Given the description of an element on the screen output the (x, y) to click on. 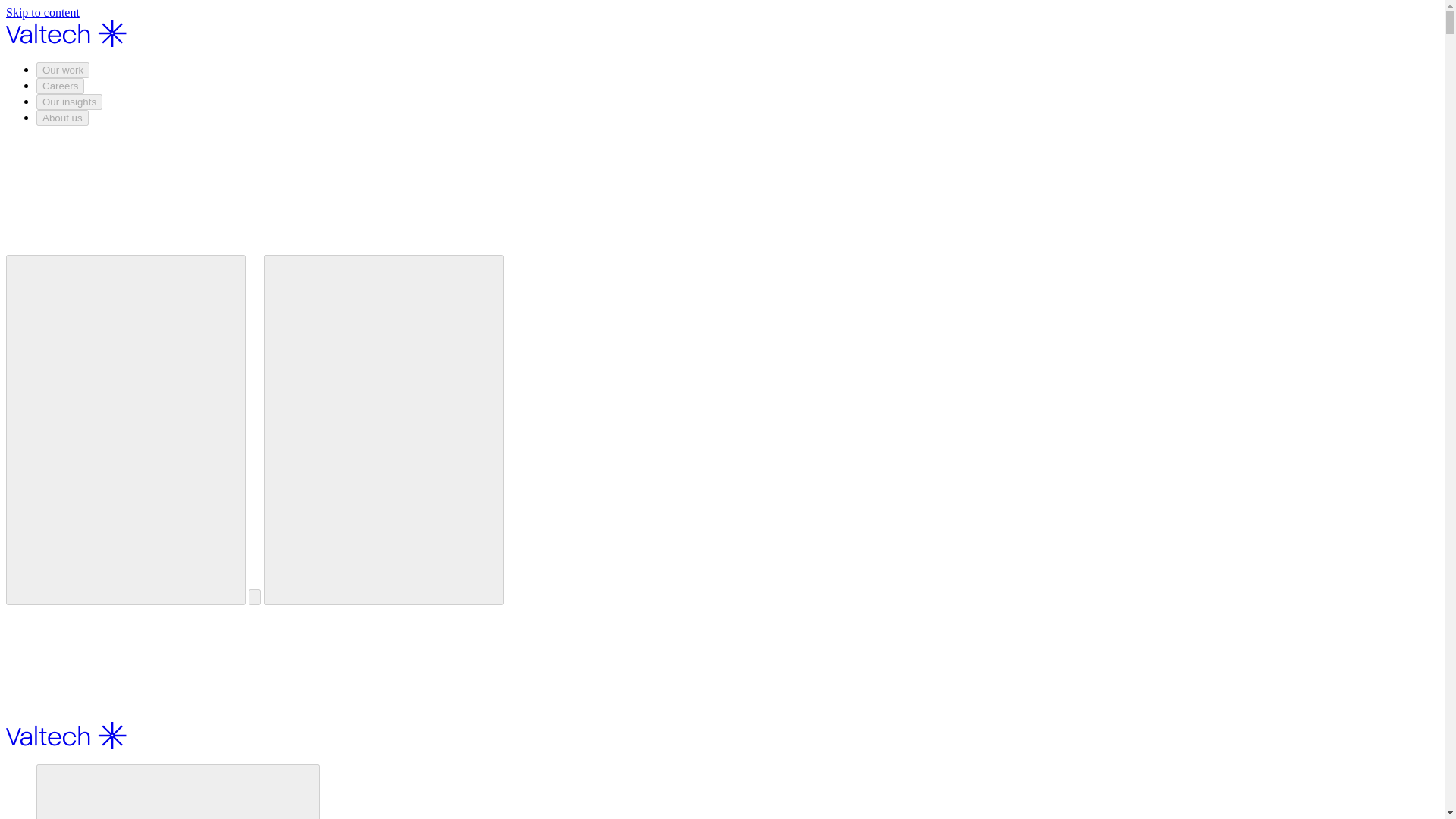
Careers (60, 85)
About us (62, 117)
Skip to content (42, 11)
Our work (62, 69)
Our insights (68, 101)
Our work (178, 791)
